Given the description of an element on the screen output the (x, y) to click on. 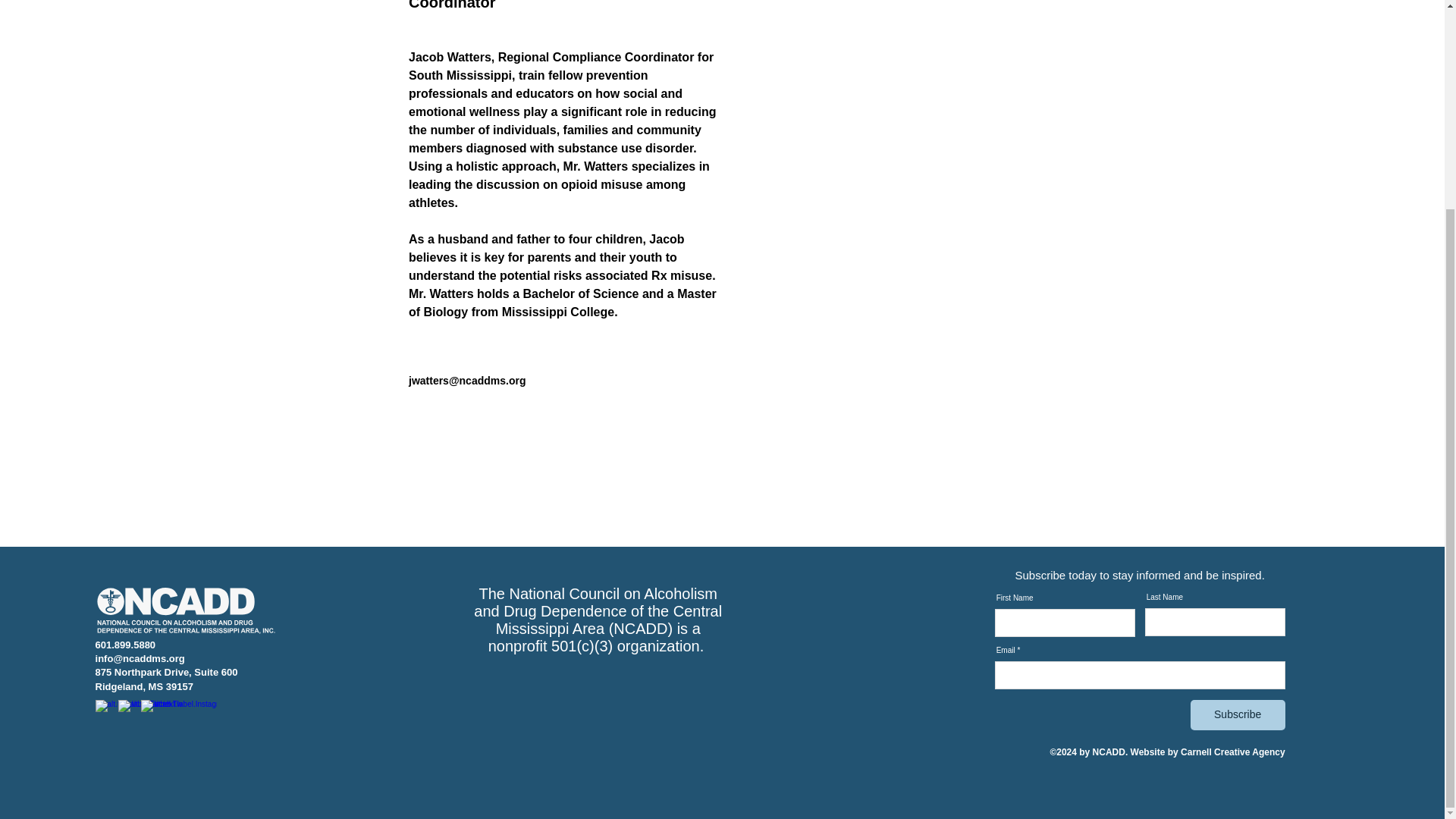
Subscribe (1238, 715)
Carnell Creative Agency (1232, 751)
Jacob Watters, NCADD.jpg (1002, 112)
601.899.5880 (125, 644)
